Given the description of an element on the screen output the (x, y) to click on. 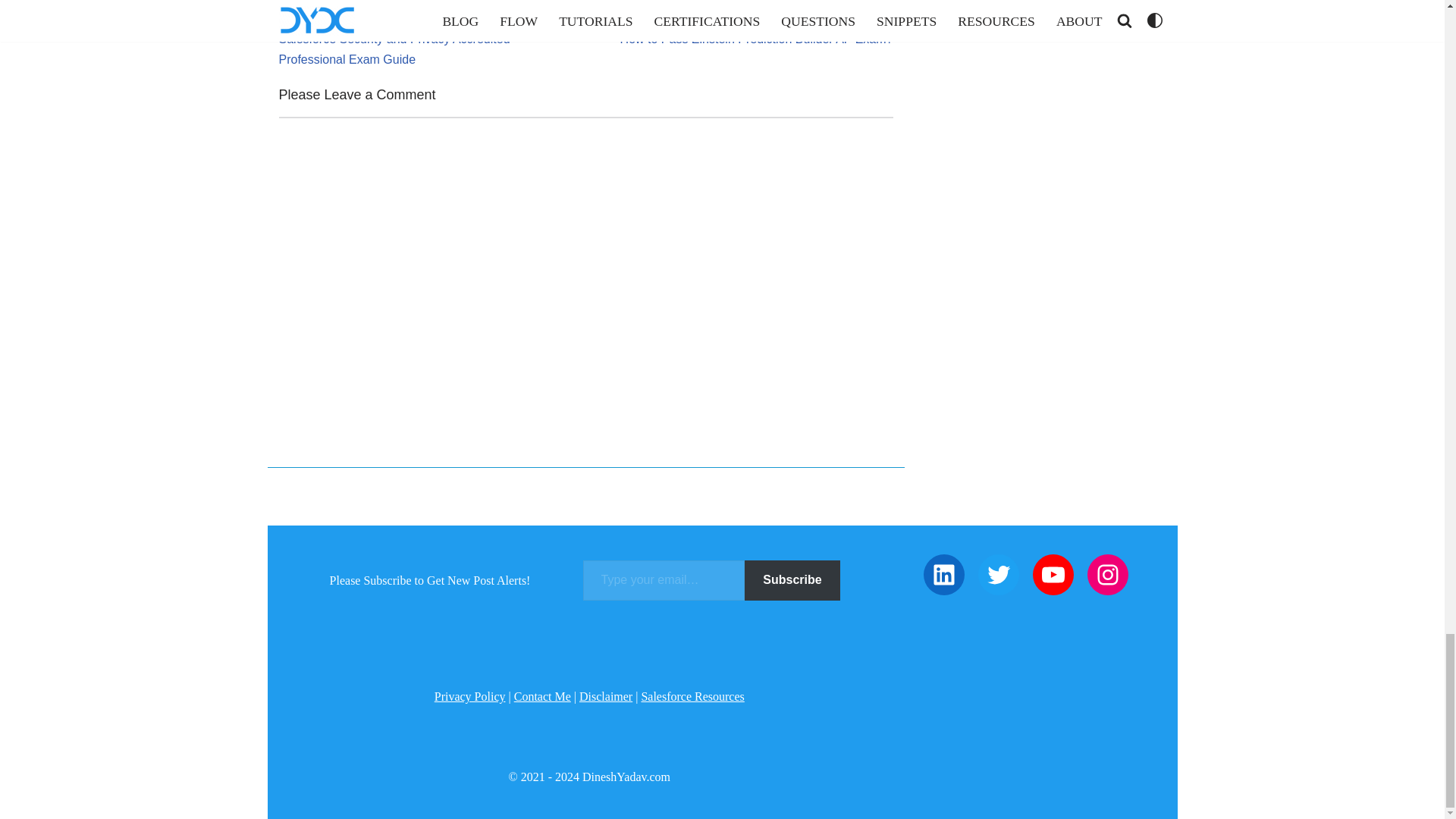
Please fill in this field. (664, 580)
